Given the description of an element on the screen output the (x, y) to click on. 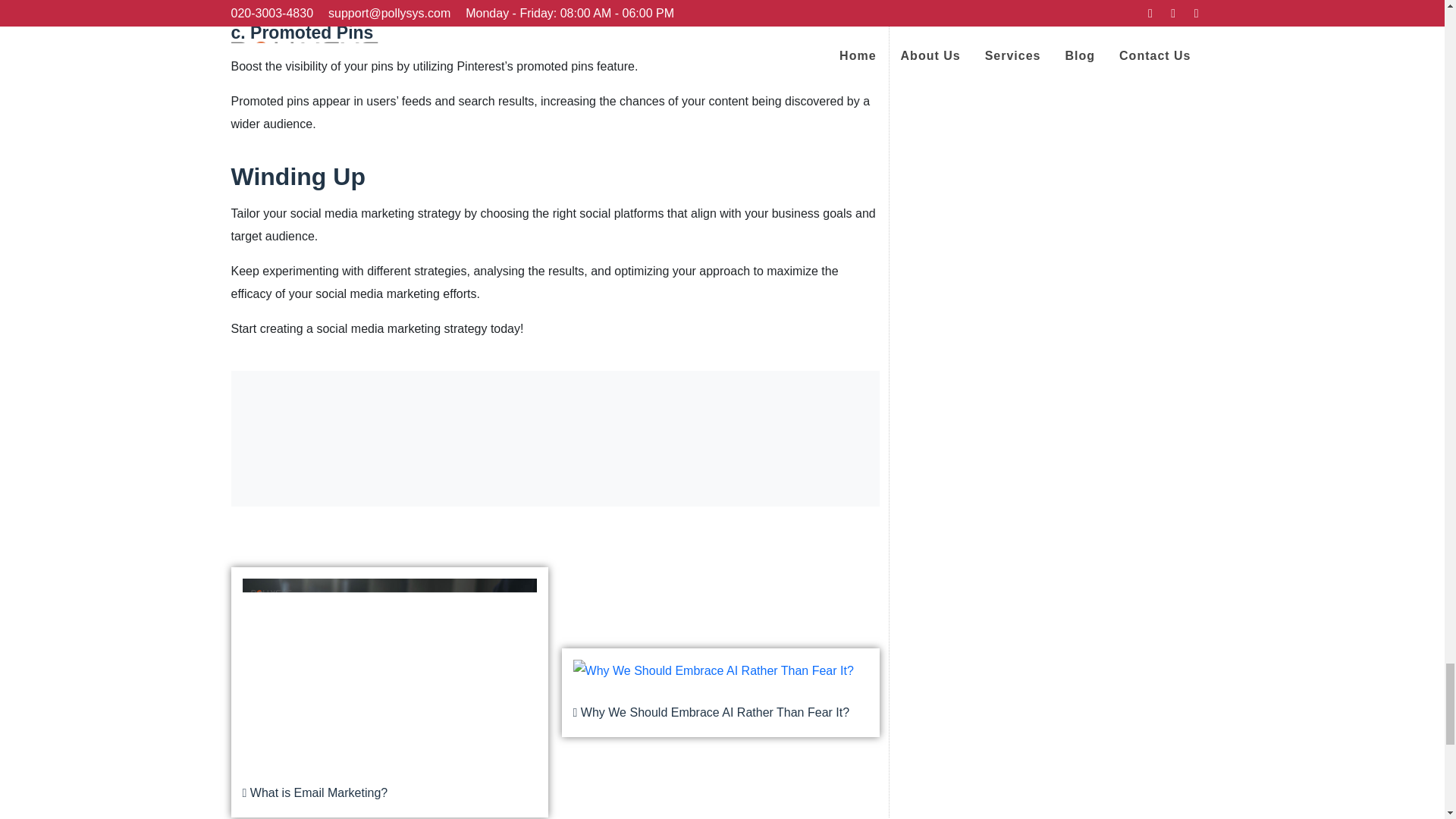
What is Email Marketing? (390, 691)
Why We Should Embrace AI Rather Than Fear It? (713, 692)
